Given the description of an element on the screen output the (x, y) to click on. 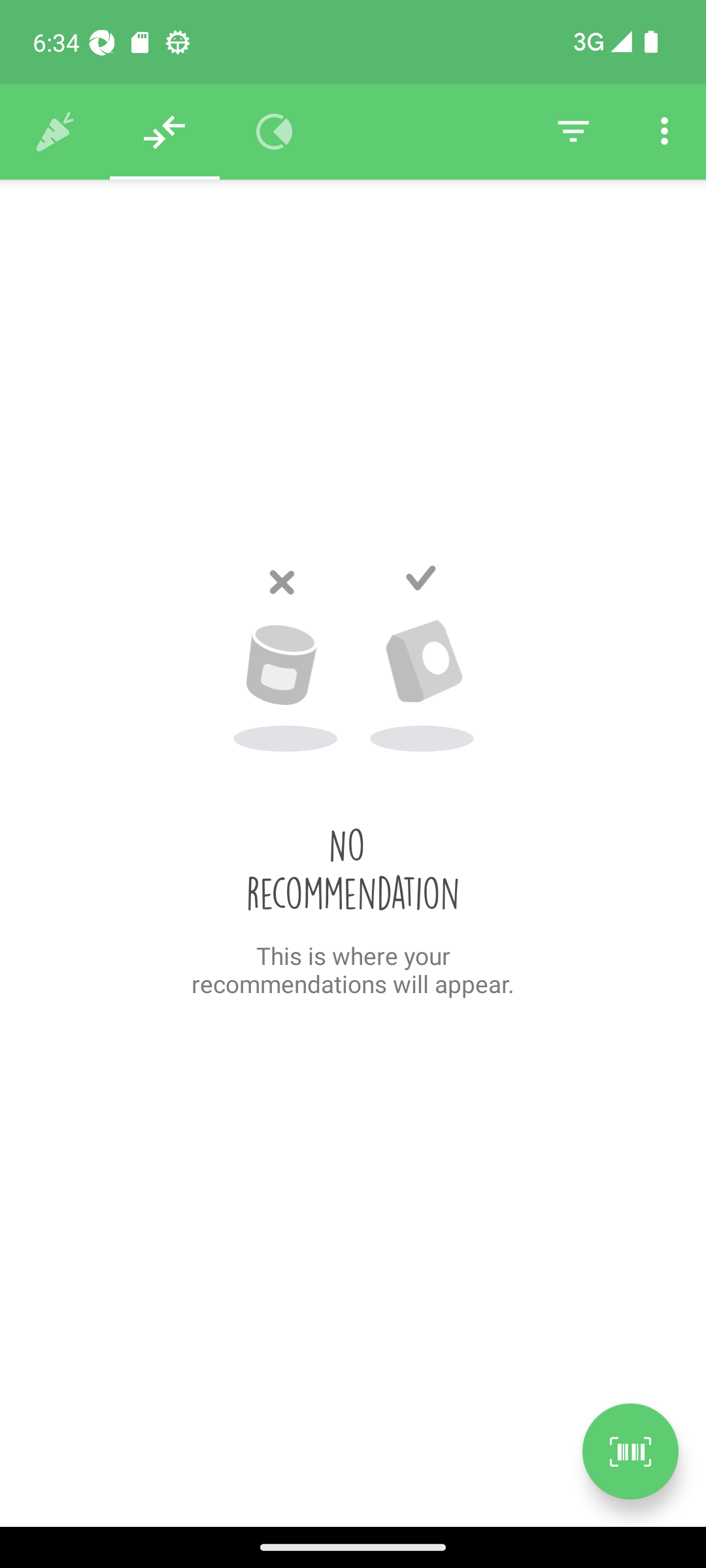
History (55, 131)
Overview (274, 131)
Filter (572, 131)
Settings (664, 131)
Scan a product (630, 1451)
